Given the description of an element on the screen output the (x, y) to click on. 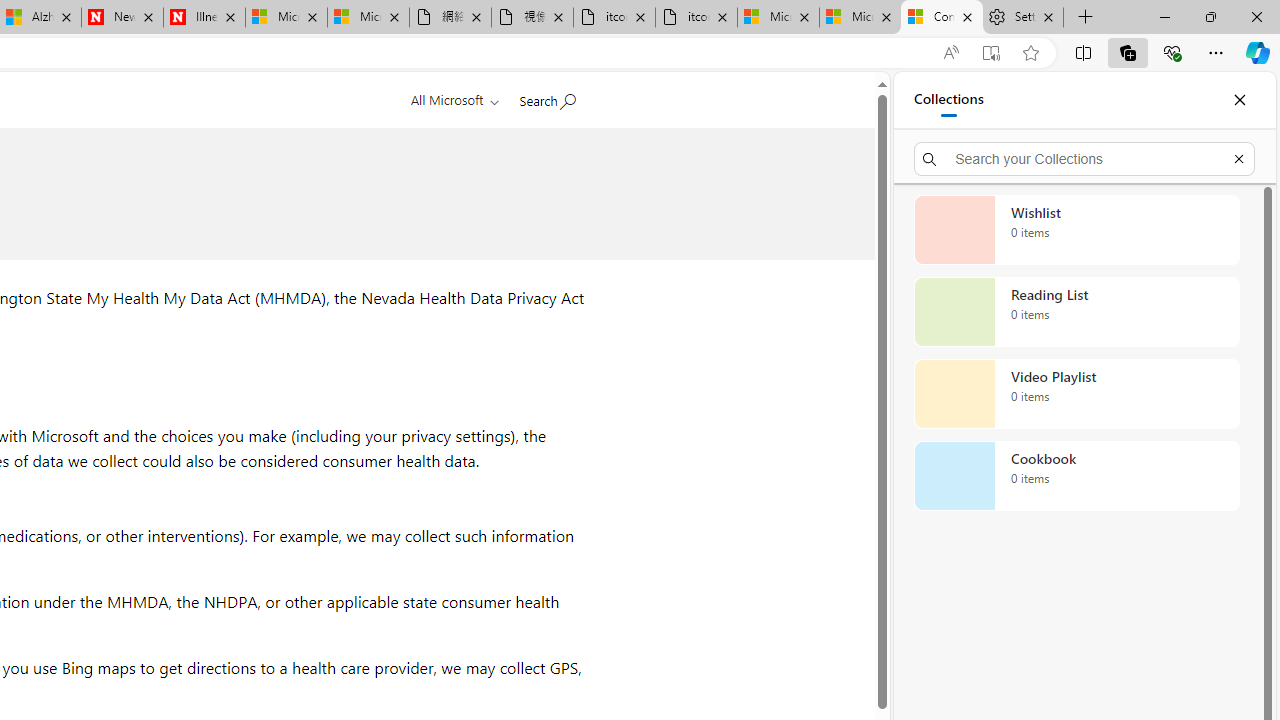
Search your Collections (1084, 158)
